Given the description of an element on the screen output the (x, y) to click on. 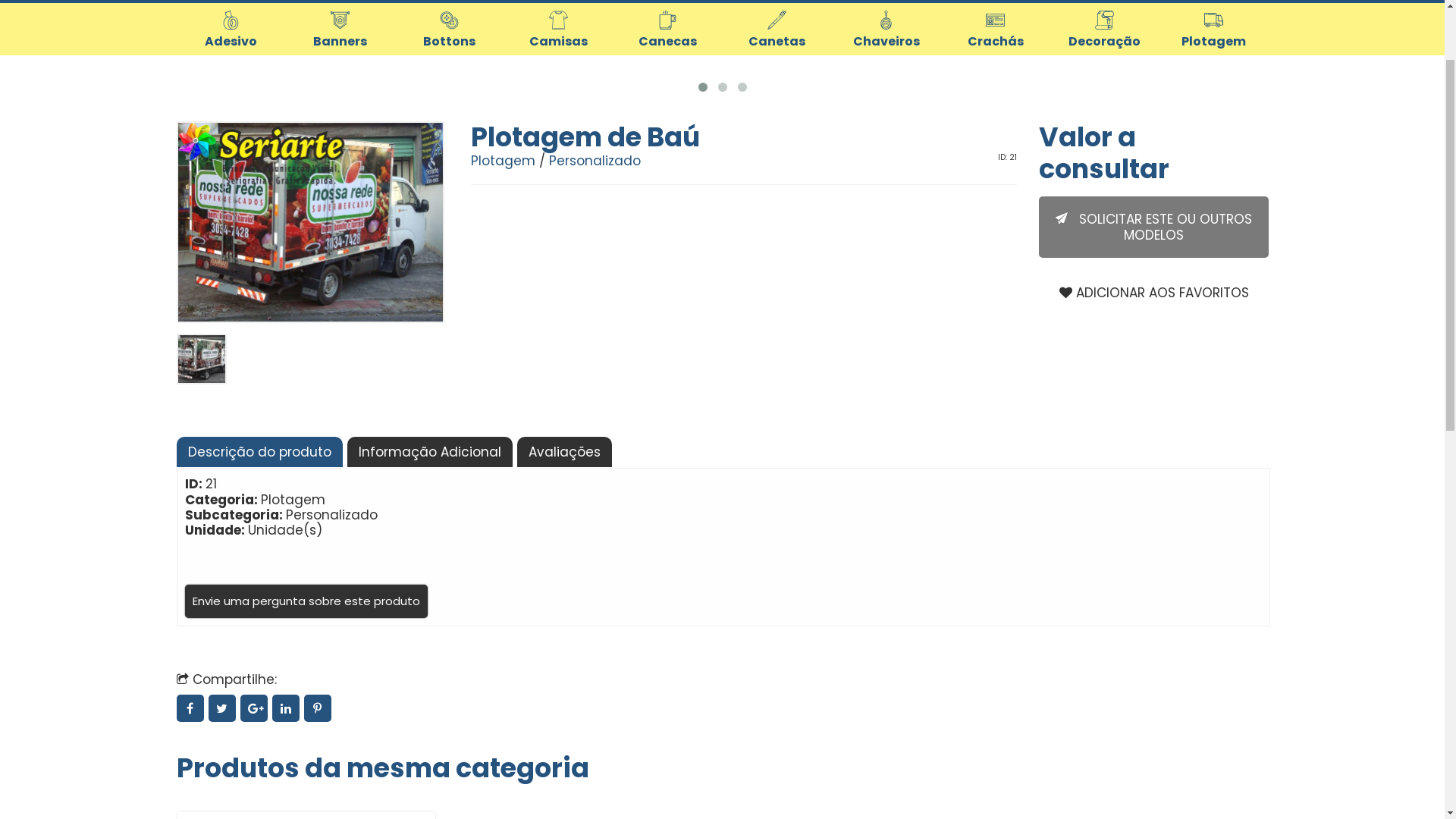
Bottons Element type: text (448, 137)
Chaveiros Element type: text (885, 137)
Minha conta Element type: hover (1174, 69)
Mande-nos um e-mail Element type: hover (1230, 31)
Fale conosco Element type: text (1160, 31)
Camisas Element type: text (557, 137)
Seus Favoritos Element type: hover (1212, 69)
Adesivo Element type: text (230, 137)
Siga nosso Instagram Element type: hover (1258, 31)
Personalizado Element type: text (594, 269)
Banners Element type: text (339, 137)
Plotagem Element type: text (1212, 137)
Plotagem Element type: text (502, 269)
Canetas Element type: text (776, 137)
(27) 3328-0505 Element type: text (1041, 31)
Envie uma pergunta sobre este produto Element type: text (306, 709)
Meu carrinho Element type: hover (1250, 69)
Canecas Element type: text (666, 137)
